Given the description of an element on the screen output the (x, y) to click on. 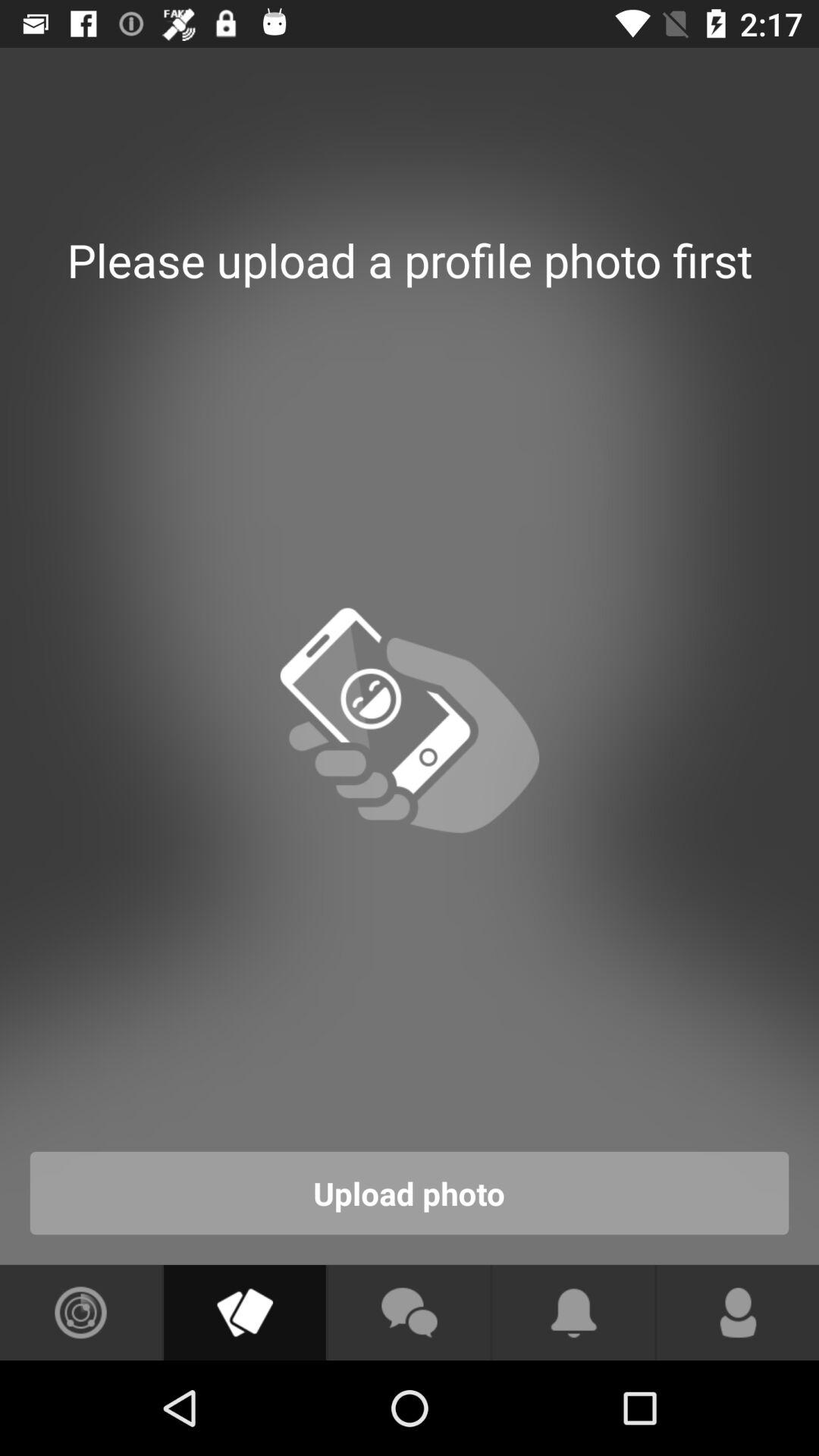
shows file icon (244, 1312)
